Given the description of an element on the screen output the (x, y) to click on. 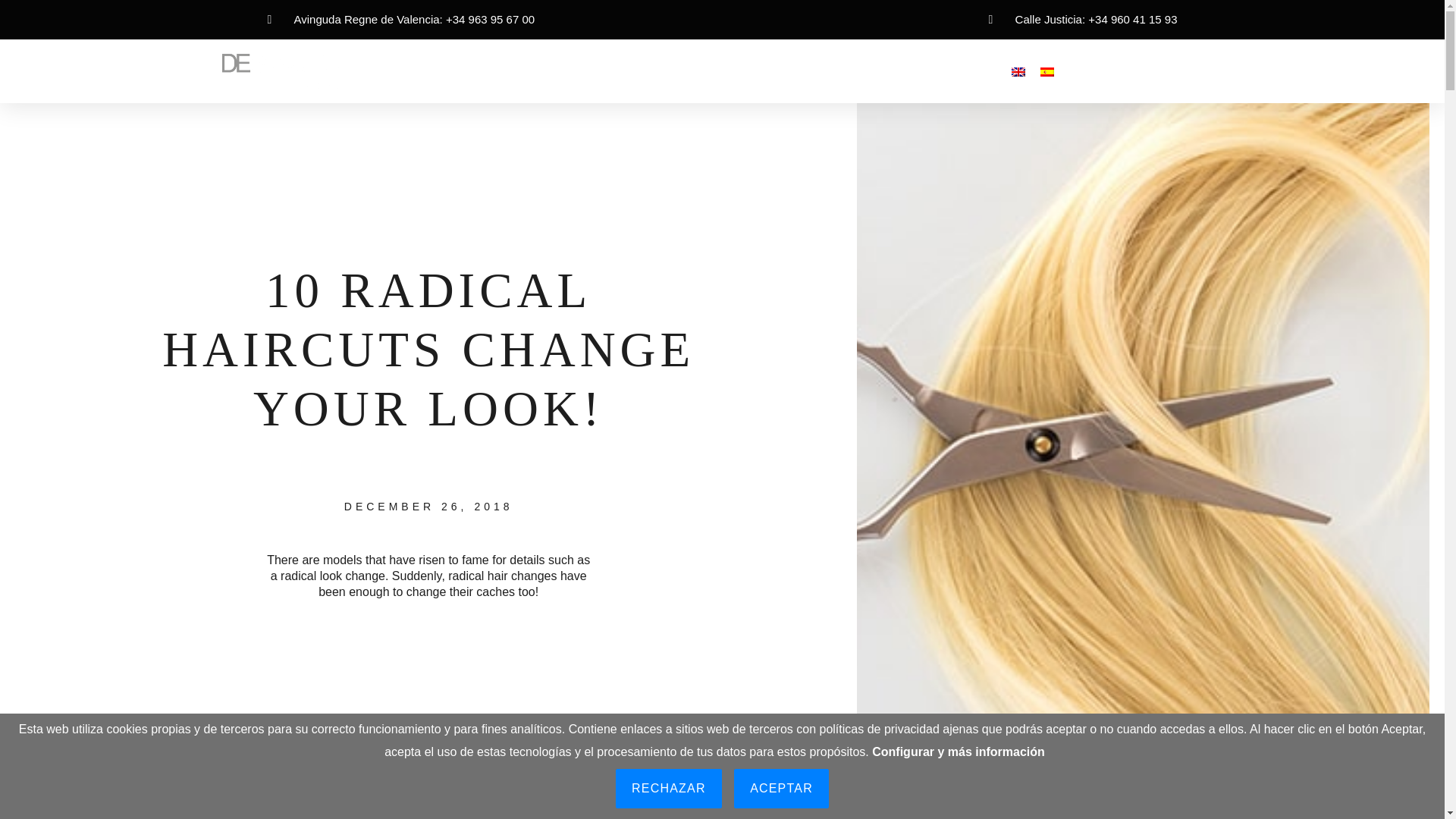
Team (667, 71)
Blog (719, 71)
Shop (614, 71)
Collections (785, 71)
Promotions (870, 71)
For him (555, 71)
0 (1242, 70)
Contact (945, 71)
Book an appointment (1149, 70)
View your shopping cart (1242, 70)
